Given the description of an element on the screen output the (x, y) to click on. 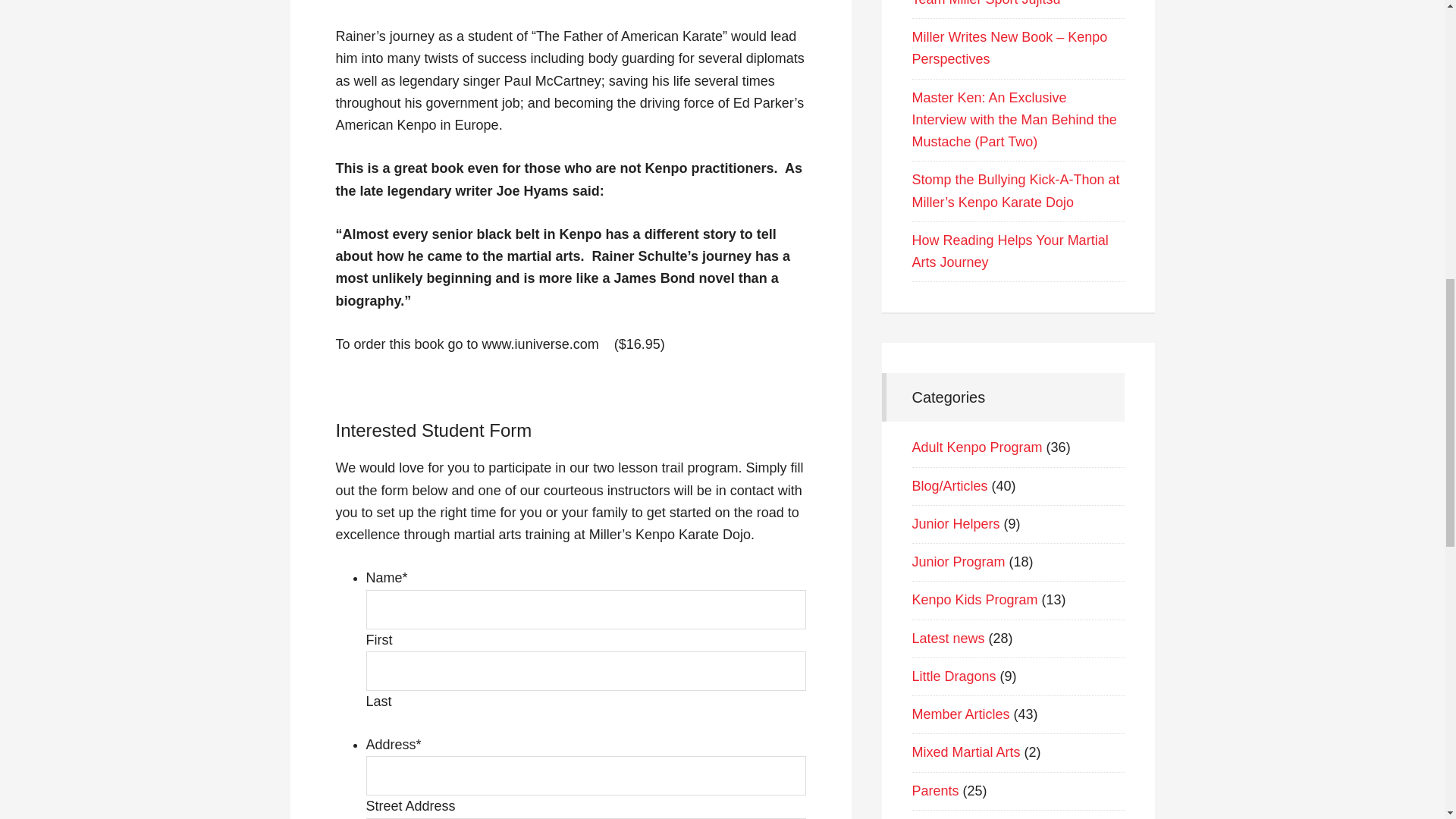
Adult Kenpo Program (976, 447)
How Reading Helps Your Martial Arts Journey (1009, 251)
Junior Helpers (954, 523)
Junior Program (957, 561)
Team Miller Sport Jujitsu (985, 3)
Kenpo Kids Program (973, 599)
Latest news (947, 638)
